Given the description of an element on the screen output the (x, y) to click on. 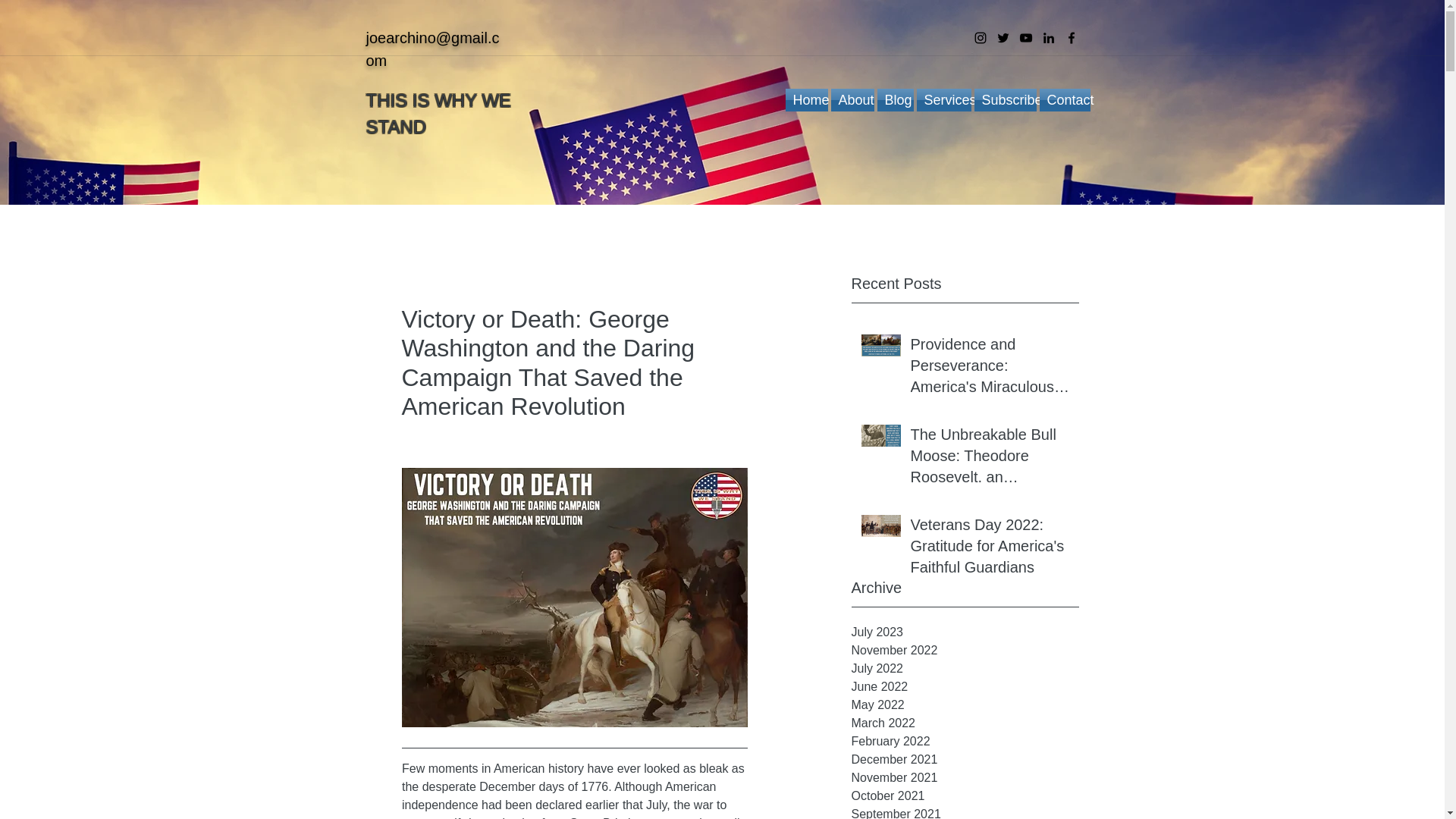
About (852, 99)
February 2022 (964, 741)
December 2021 (964, 760)
Subscribe (1004, 99)
Contact (1062, 99)
July 2023 (964, 632)
November 2022 (964, 650)
March 2022 (964, 723)
June 2022 (964, 687)
November 2021 (964, 778)
Blog (894, 99)
July 2022 (964, 669)
October 2021 (964, 796)
